Given the description of an element on the screen output the (x, y) to click on. 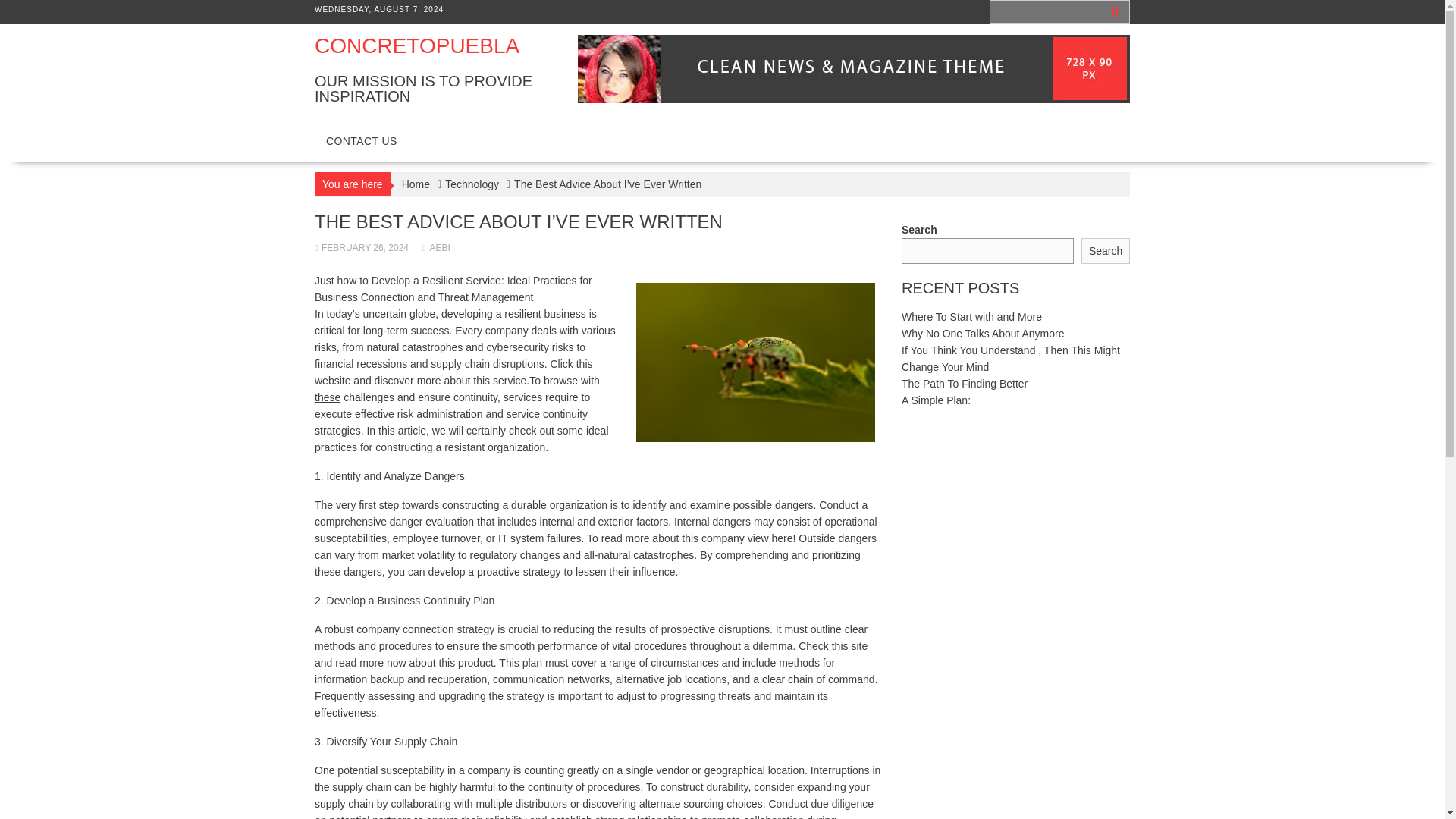
these (327, 397)
Where To Start with and More (971, 316)
FEBRUARY 26, 2024 (361, 247)
Why No One Talks About Anymore (982, 333)
CONTACT US (361, 140)
The Path To Finding Better (964, 383)
AEBI (435, 247)
Technology (472, 184)
A Simple Plan: (936, 399)
CONCRETOPUEBLA (416, 45)
Search (1105, 251)
Home (415, 184)
